Given the description of an element on the screen output the (x, y) to click on. 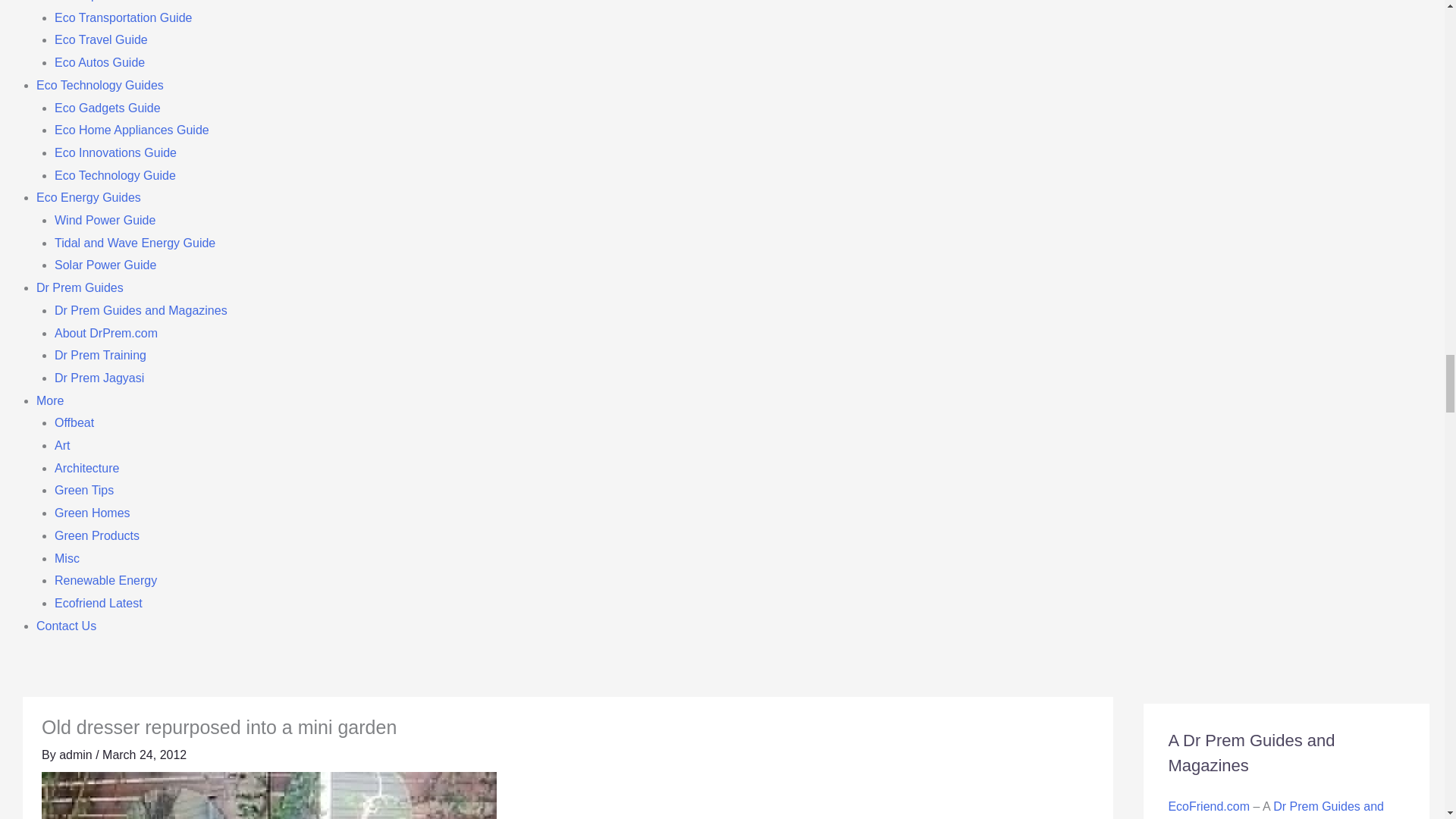
View all posts by admin (77, 754)
